Given the description of an element on the screen output the (x, y) to click on. 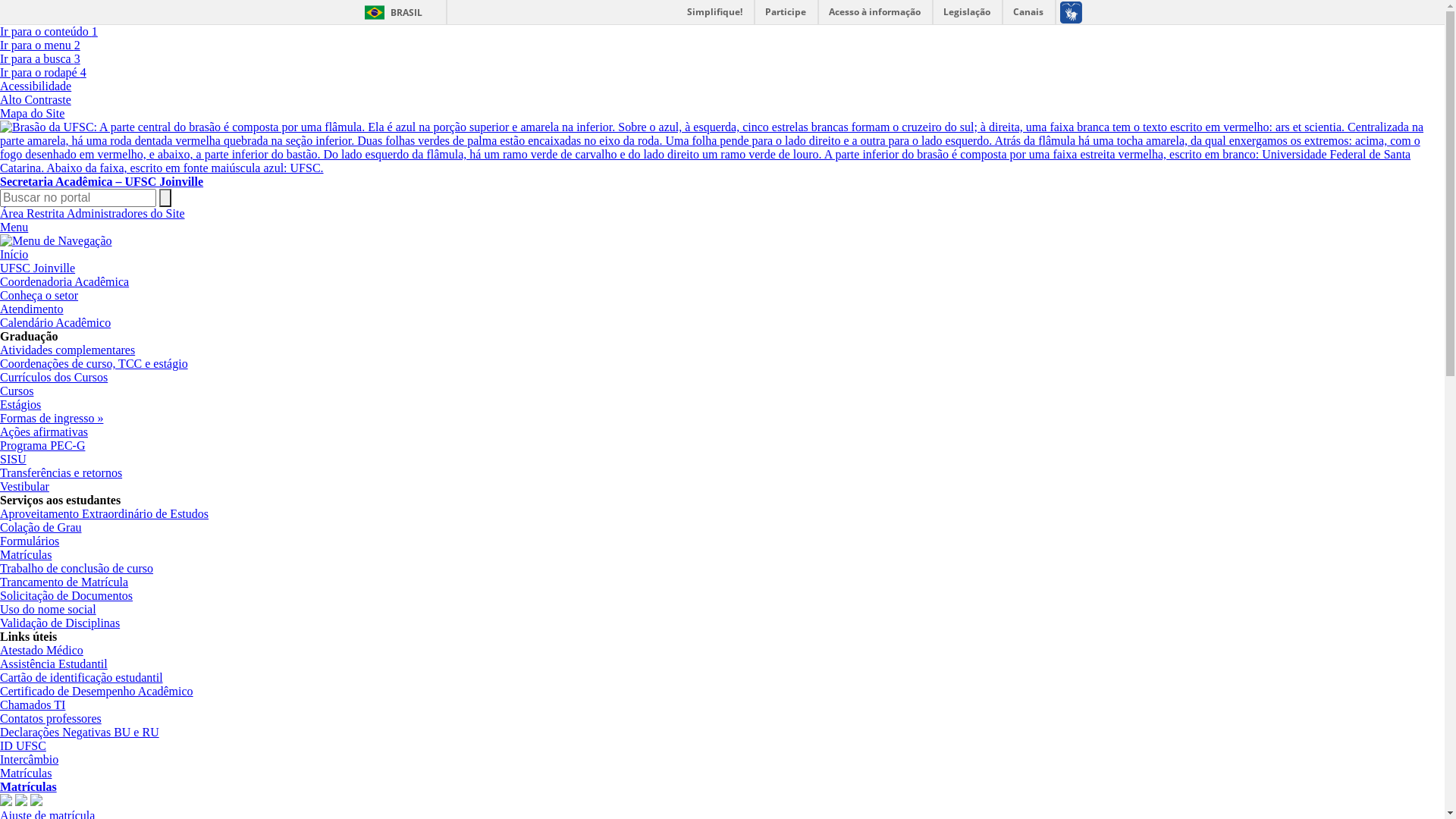
Mapa do Site Element type: text (32, 112)
Administradores do Site Element type: text (125, 213)
Acessibilidade Element type: text (35, 85)
Atividades complementares Element type: text (67, 349)
Alto Contraste Element type: text (35, 99)
Cursos Element type: text (16, 390)
Compartilhar no Twitter Element type: hover (6, 801)
Chamados TI Element type: text (32, 704)
BRASIL Element type: text (389, 12)
Atendimento Element type: text (31, 308)
Menu Element type: text (14, 226)
ID UFSC Element type: text (23, 745)
Vestibular Element type: text (24, 486)
UFSC Joinville Element type: text (37, 267)
Uso do nome social Element type: text (48, 608)
Ir para a busca 3 Element type: text (40, 58)
Ir para o menu 2 Element type: text (40, 44)
Contatos professores Element type: text (50, 718)
SISU Element type: text (13, 458)
Compartilhar no WhatsApp Element type: hover (36, 801)
Programa PEC-G Element type: text (42, 445)
Compartilhar no Facebook Element type: hover (21, 801)
